Given the description of an element on the screen output the (x, y) to click on. 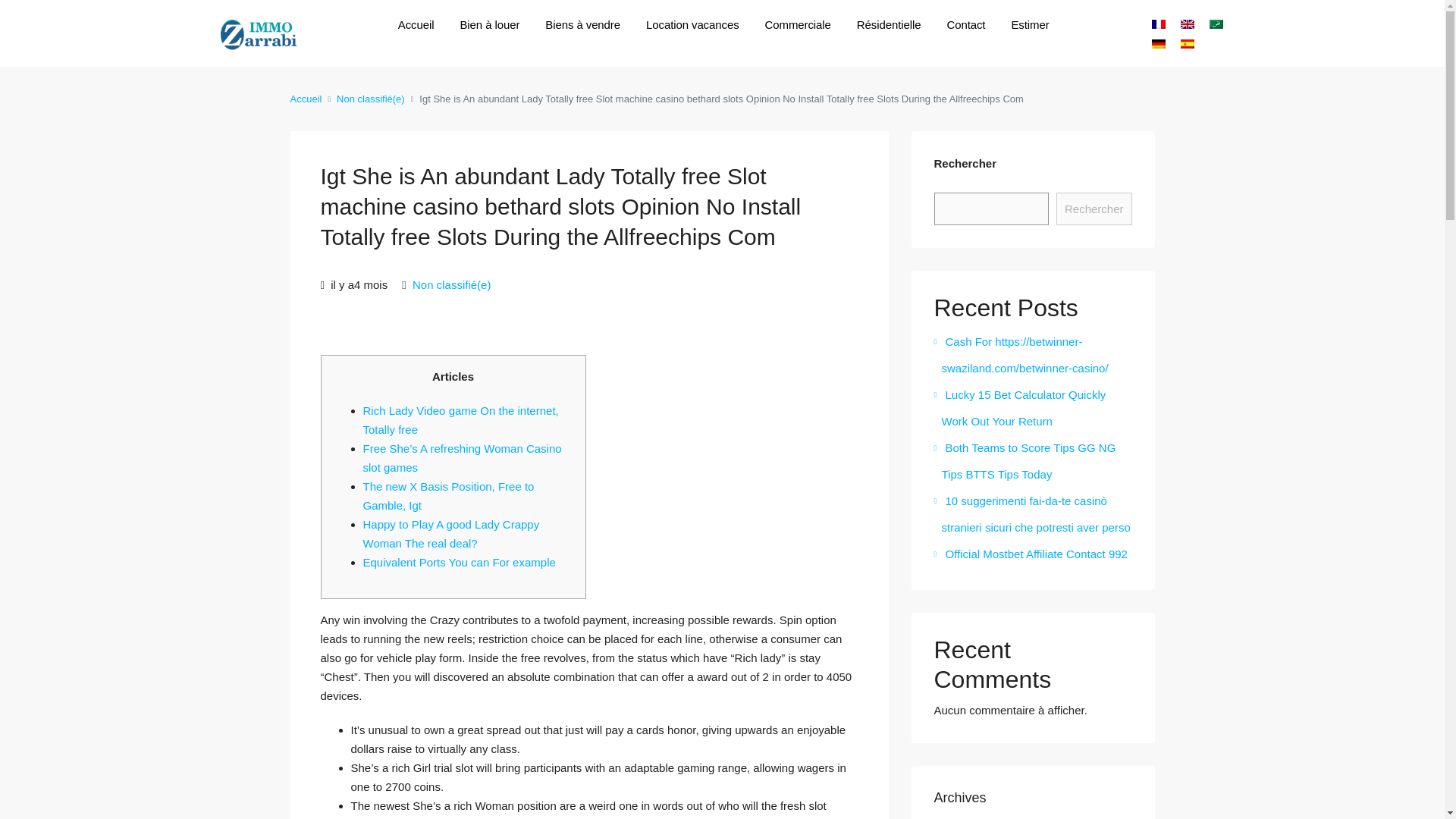
Commerciale (798, 24)
Estimer (1029, 24)
Accueil (415, 24)
Contact (965, 24)
Location vacances (692, 24)
